Given the description of an element on the screen output the (x, y) to click on. 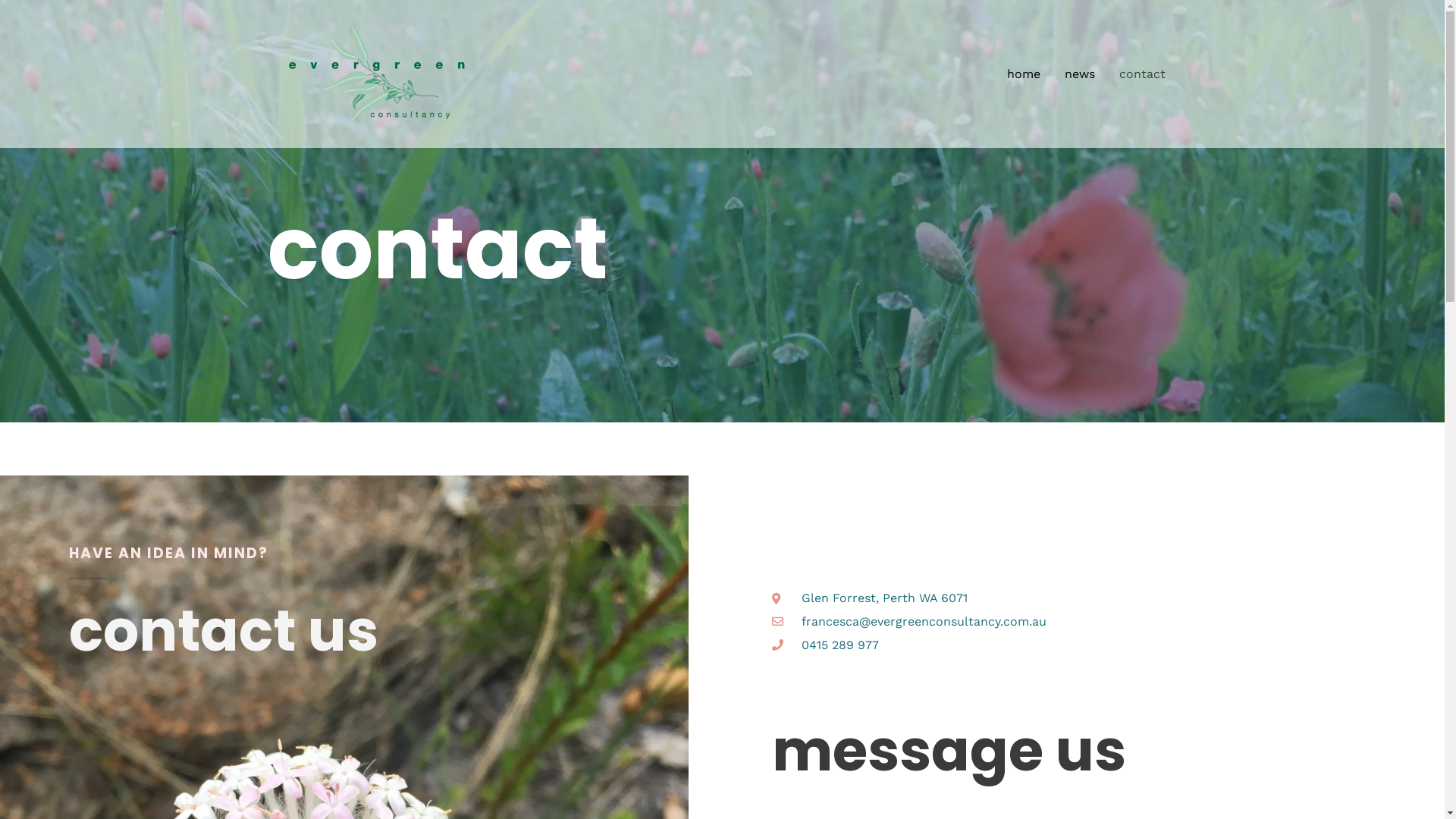
home Element type: text (1023, 74)
0415 289 977 Element type: text (1066, 645)
francesca@evergreenconsultancy.com.au Element type: text (1066, 621)
news Element type: text (1079, 74)
Glen Forrest, Perth WA 6071 Element type: text (1066, 598)
contact Element type: text (1142, 74)
